Given the description of an element on the screen output the (x, y) to click on. 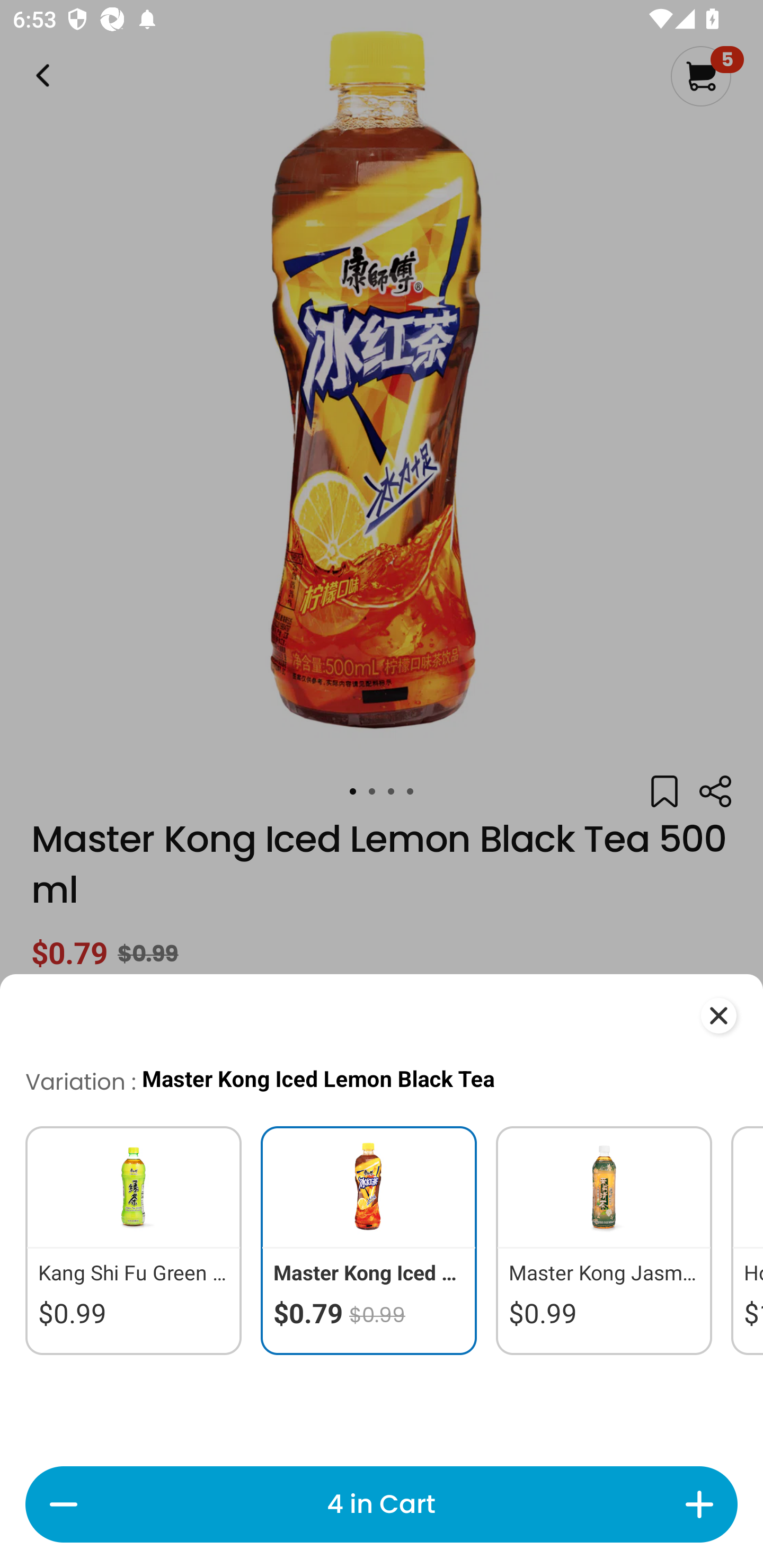
Kang Shi Fu Green Tea $0.99 (125, 1239)
Master Kong Iced Lemon Black Tea $0.79 $0.99 (368, 1239)
Master Kong Jasmine Green Tea, Less Sugar $0.99 (603, 1239)
4 in Cart (381, 1504)
4 in Cart (380, 1504)
